Given the description of an element on the screen output the (x, y) to click on. 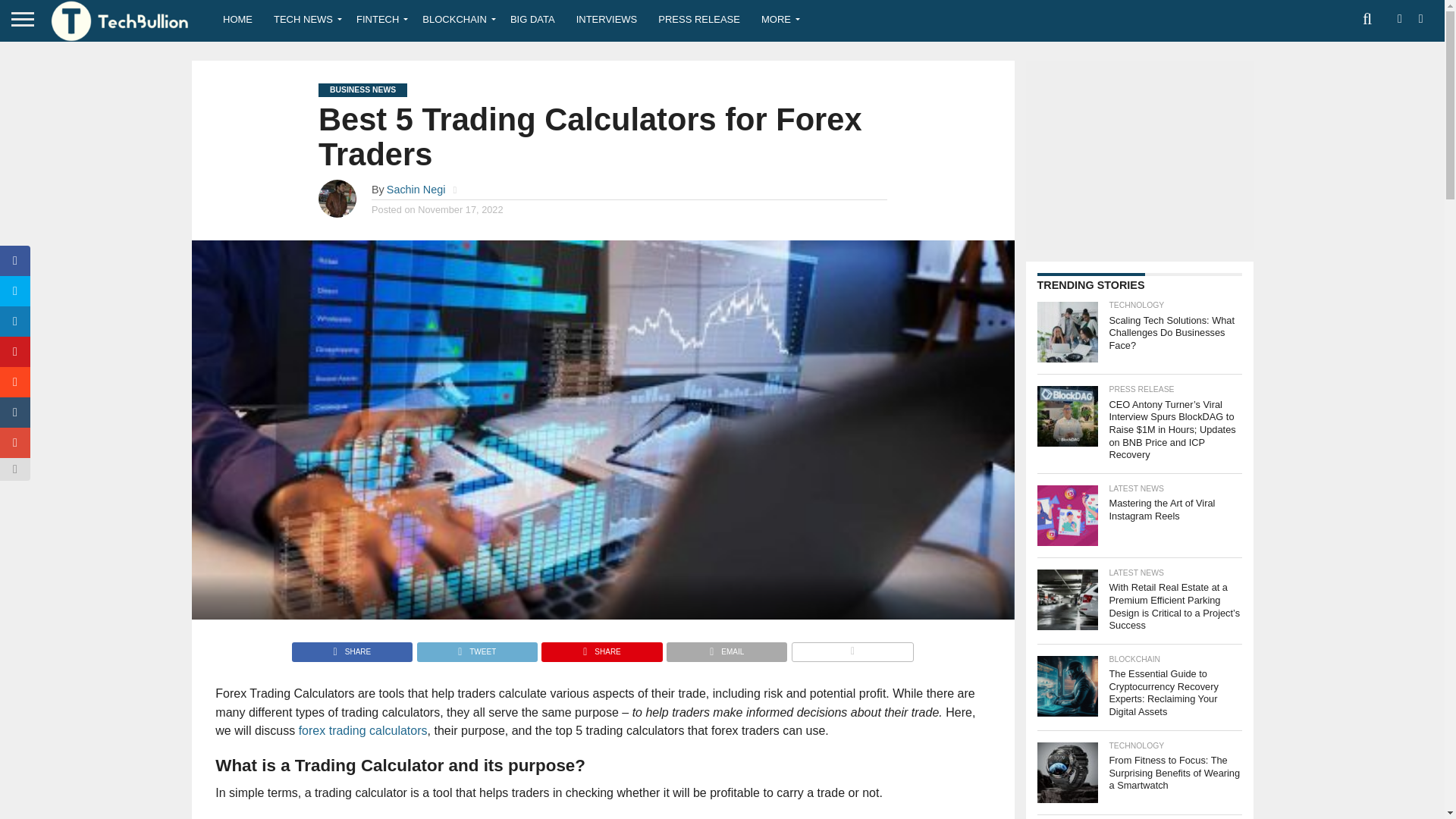
Tweet This Post (476, 647)
Pin This Post (601, 647)
Posts by Sachin Negi (416, 189)
Share on Facebook (352, 647)
